Given the description of an element on the screen output the (x, y) to click on. 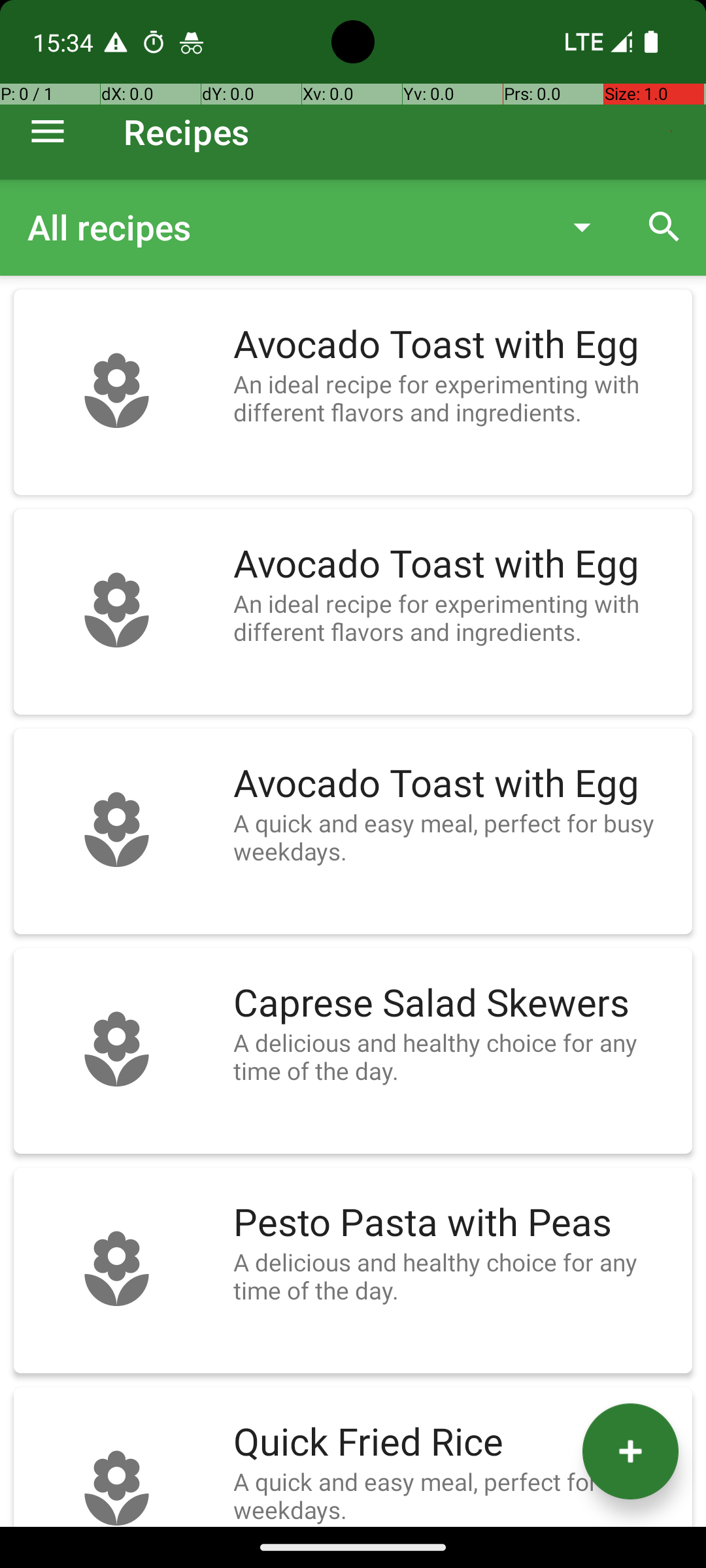
All recipes Element type: android.widget.TextView (283, 226)
Avocado Toast with Egg Element type: android.widget.TextView (455, 344)
An ideal recipe for experimenting with different flavors and ingredients. Element type: android.widget.TextView (455, 397)
A quick and easy meal, perfect for busy weekdays. Element type: android.widget.TextView (455, 836)
Caprese Salad Skewers Element type: android.widget.TextView (455, 1003)
Pesto Pasta with Peas Element type: android.widget.TextView (455, 1222)
Quick Fried Rice Element type: android.widget.TextView (455, 1442)
